Given the description of an element on the screen output the (x, y) to click on. 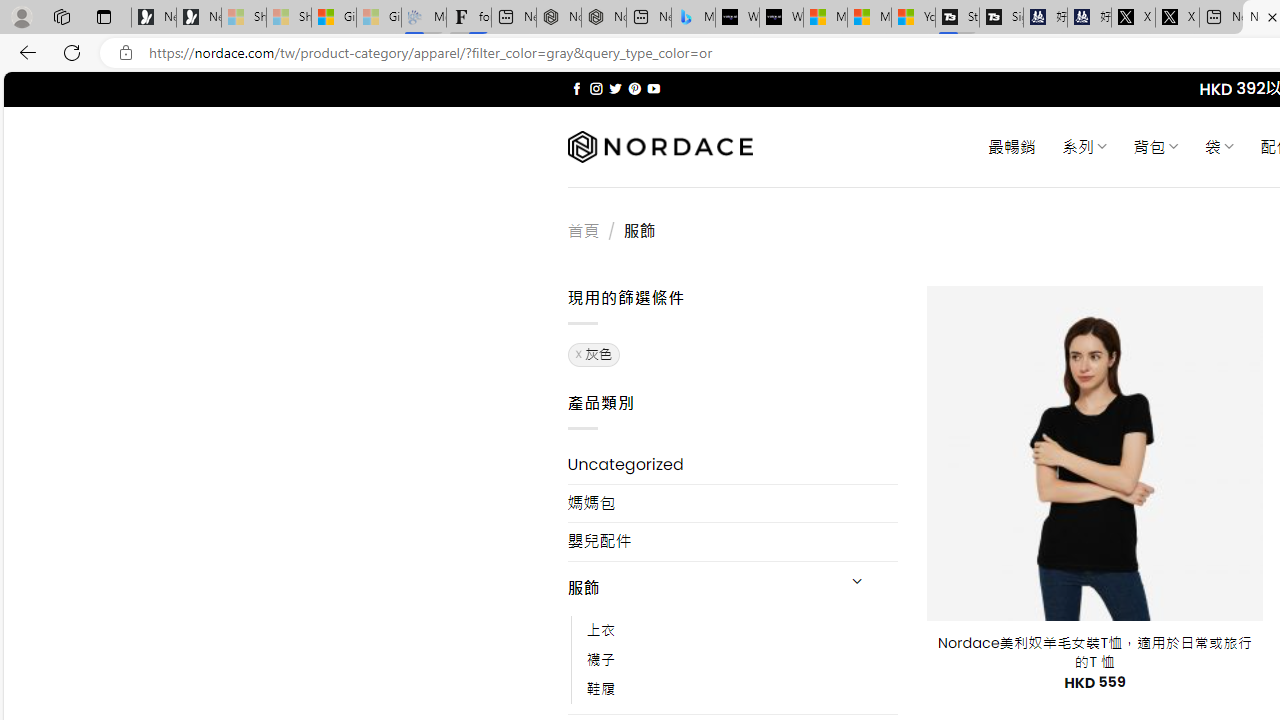
Follow on Instagram (596, 88)
Follow on Twitter (615, 88)
Nordace - #1 Japanese Best-Seller - Siena Smart Backpack (603, 17)
